Given the description of an element on the screen output the (x, y) to click on. 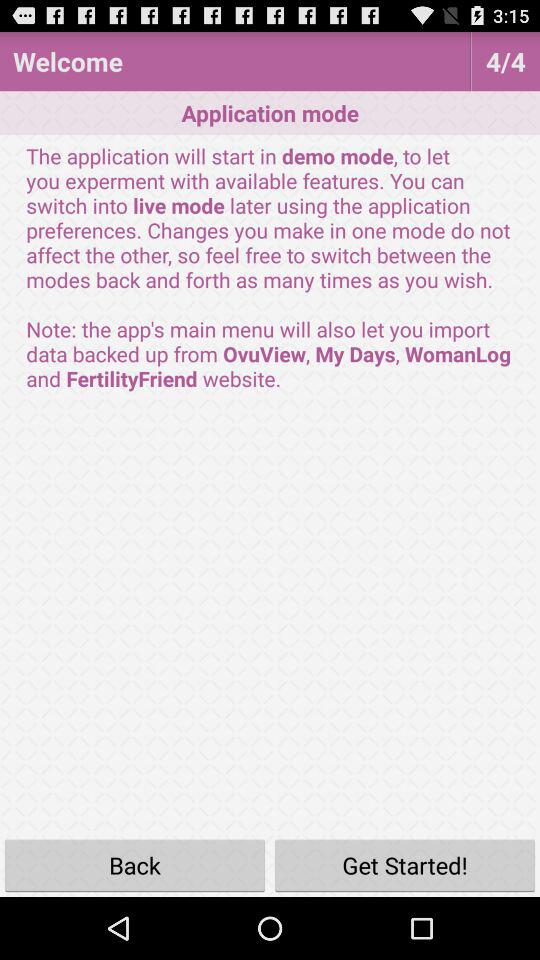
choose the icon next to the back (405, 864)
